Given the description of an element on the screen output the (x, y) to click on. 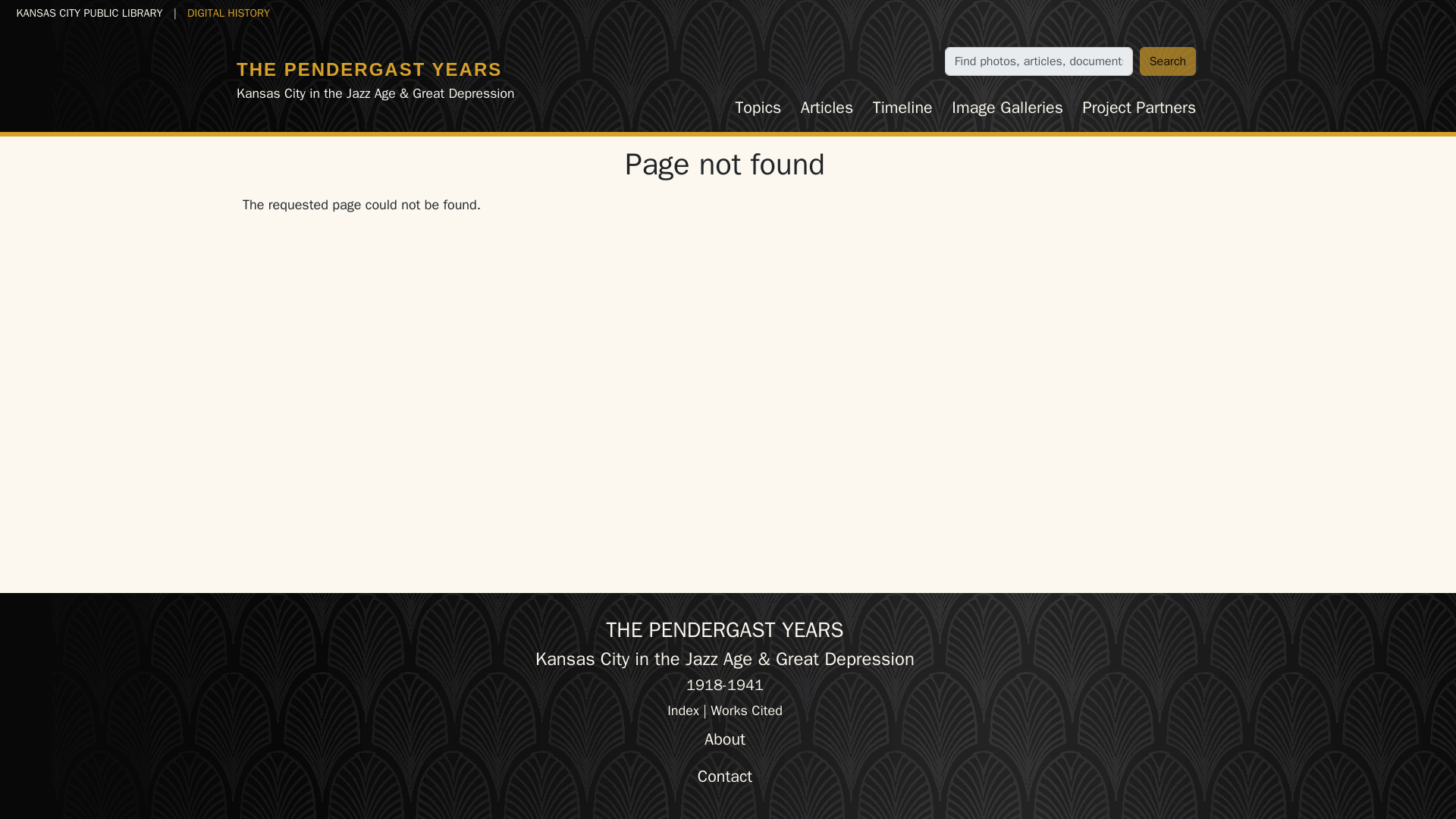
Project Partners (1139, 107)
Topics (757, 107)
Index (682, 710)
Image Galleries (1007, 107)
DIGITAL HISTORY (228, 12)
Works Cited (746, 710)
Search (1168, 61)
Search (1168, 61)
Articles (826, 107)
Home (368, 68)
Timeline (902, 107)
Skip to main content (67, 11)
Contact (725, 776)
About (725, 739)
THE PENDERGAST YEARS (368, 68)
